Given the description of an element on the screen output the (x, y) to click on. 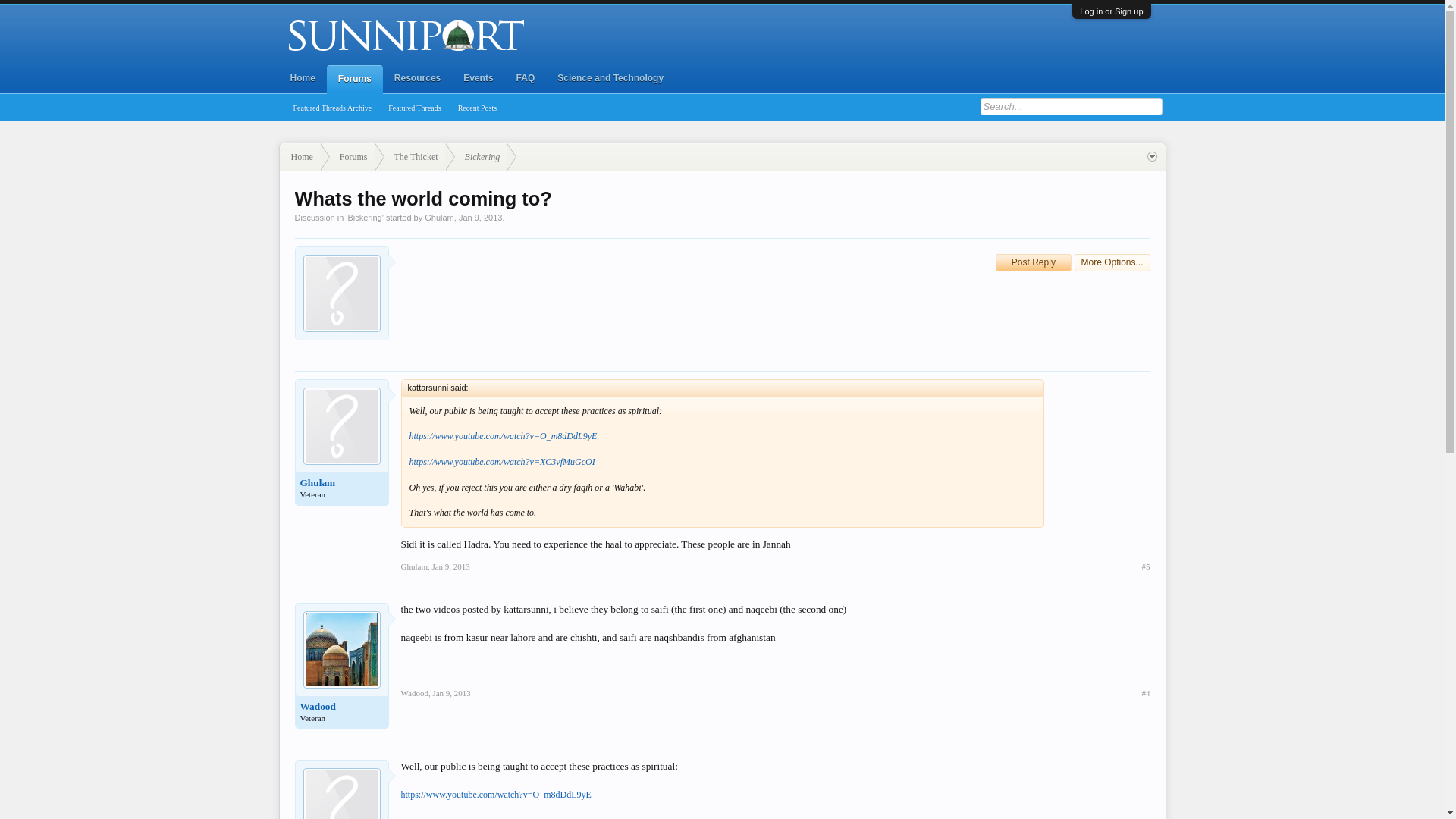
Featured Threads Archive (332, 107)
Log in or Sign up (1111, 10)
Featured Threads (414, 107)
Permalink (449, 565)
Forums (354, 79)
Recent Posts (477, 107)
Forums (347, 157)
Open quick navigation (1151, 156)
Post Reply (1033, 262)
Ghulam (439, 216)
